Given the description of an element on the screen output the (x, y) to click on. 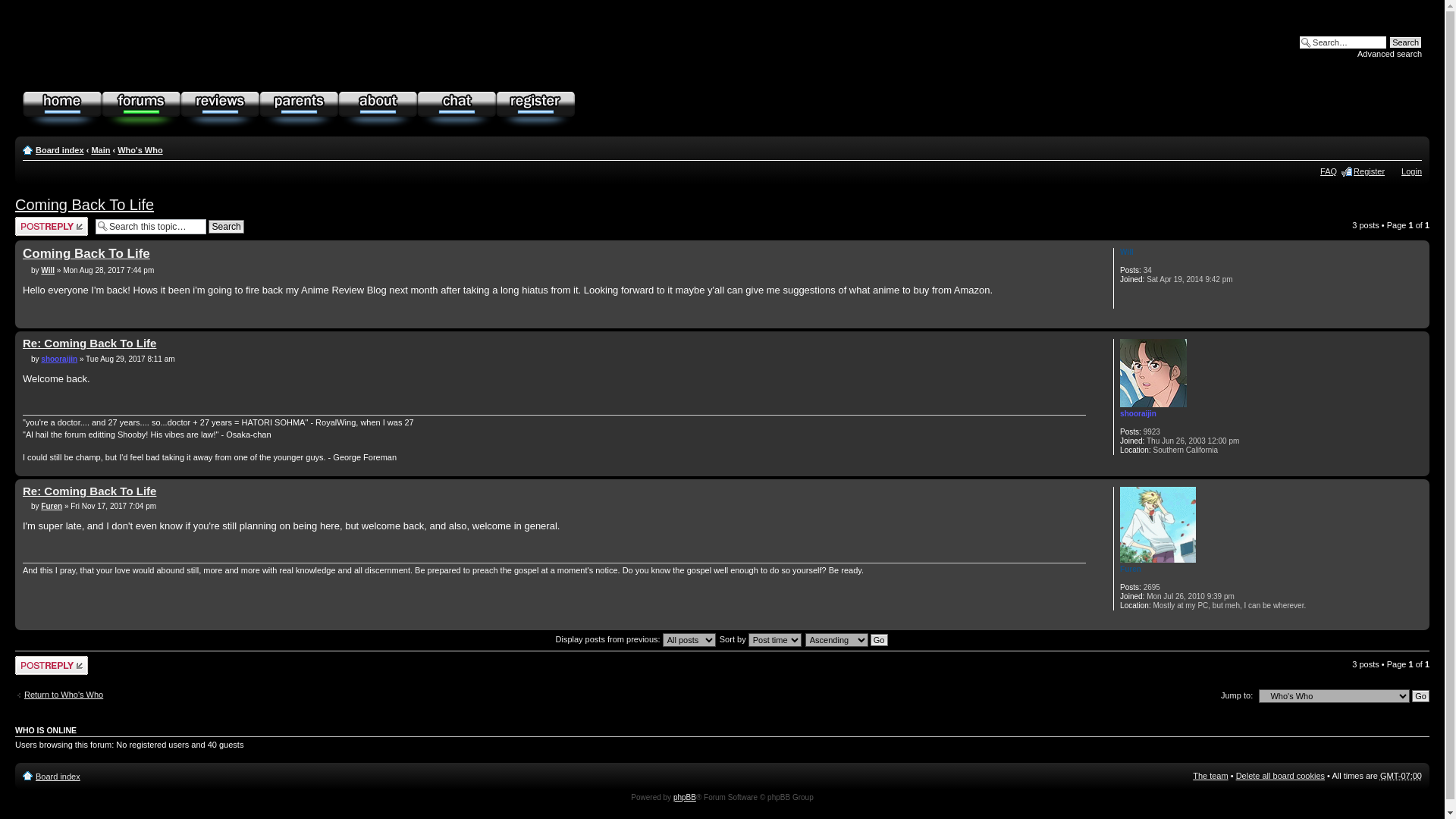
Frequently Asked Questions (1328, 171)
Print view (1413, 146)
Post a reply (50, 226)
Post (26, 270)
Board index (59, 149)
Top (1417, 468)
FAQ (1328, 171)
Go (1420, 695)
Board index (57, 776)
Top (1417, 468)
